Given the description of an element on the screen output the (x, y) to click on. 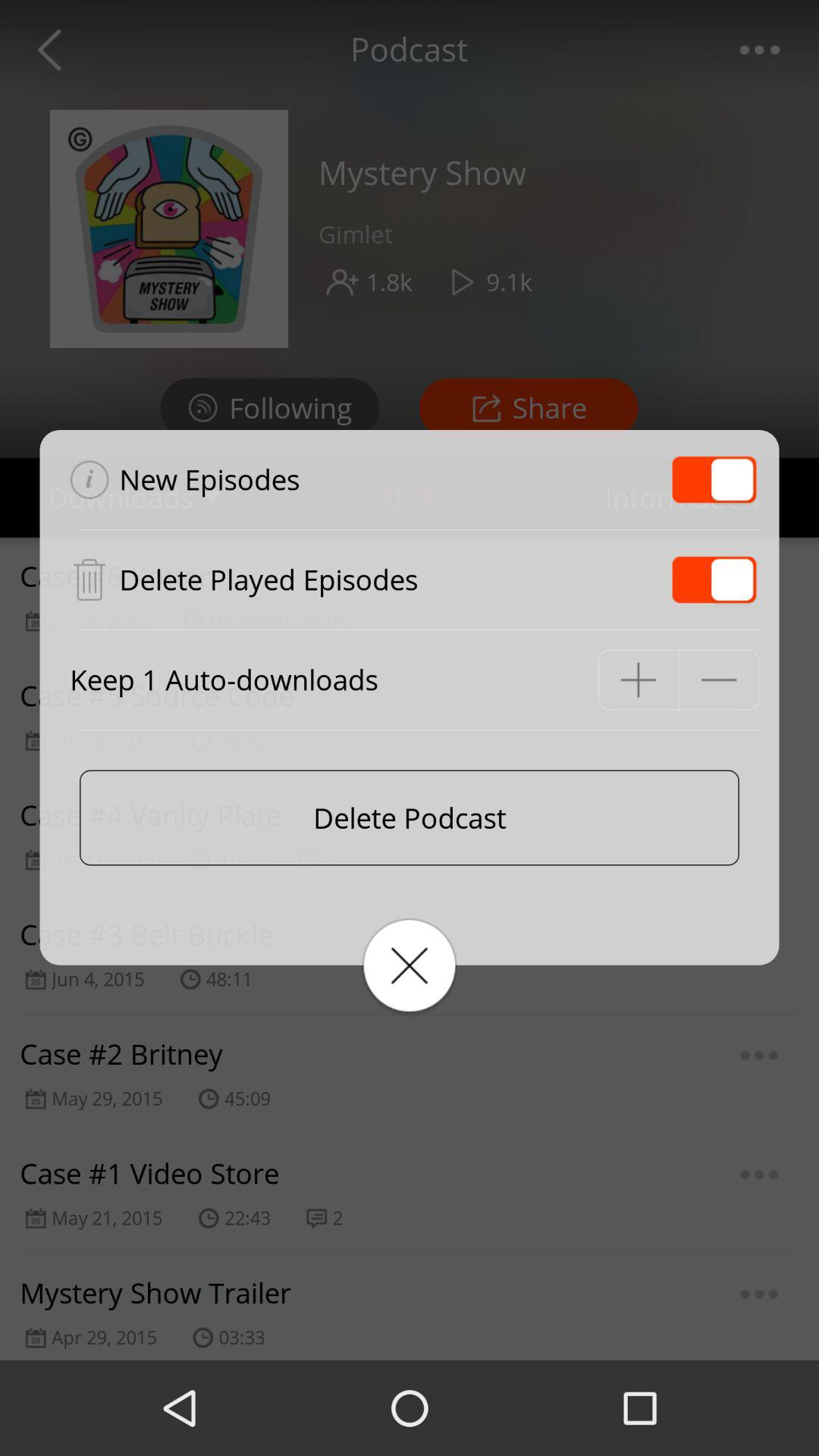
add to the number of auto-downloads (638, 679)
